Given the description of an element on the screen output the (x, y) to click on. 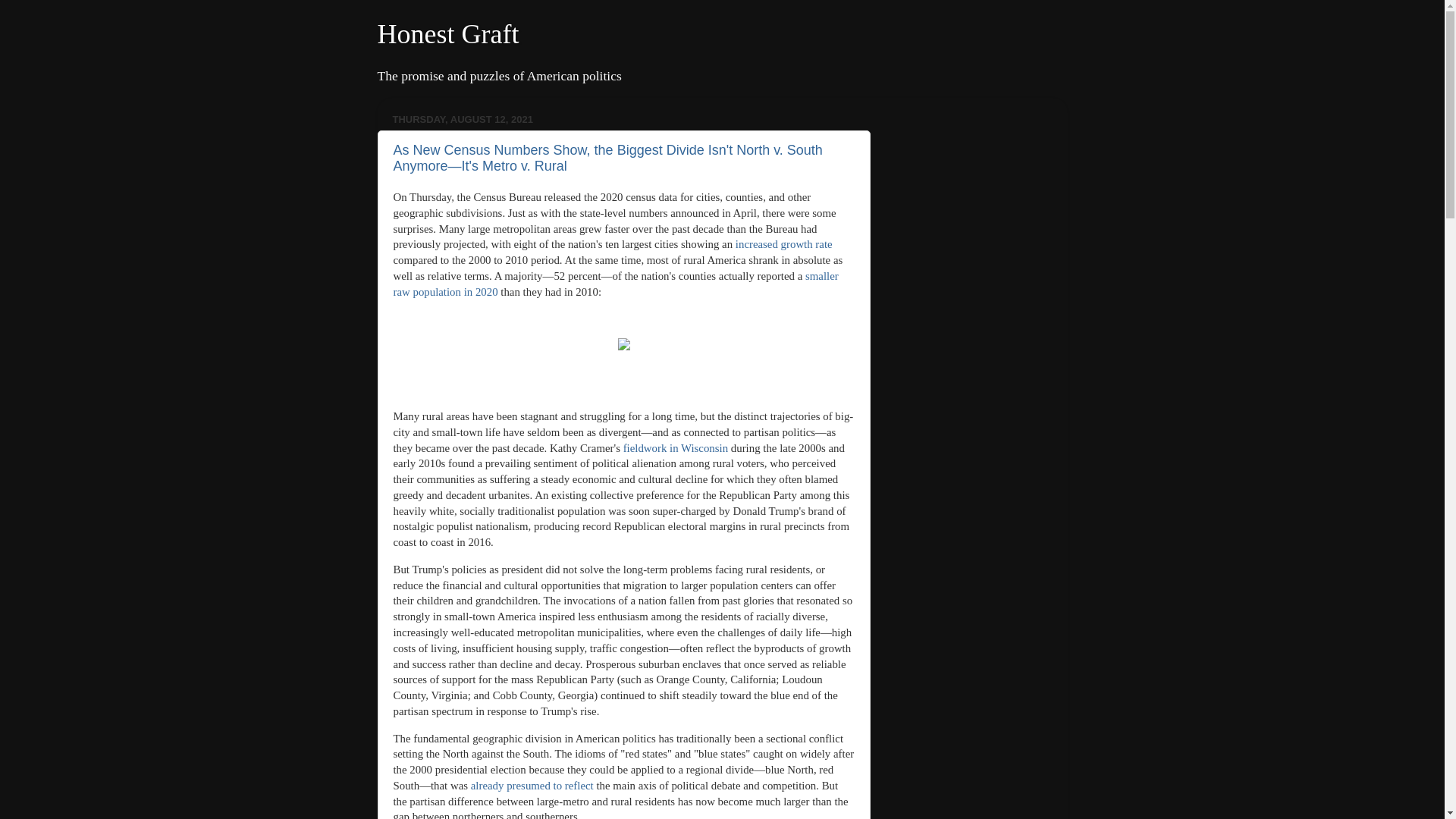
already presumed to reflect (532, 785)
fieldwork in Wisconsin (675, 448)
Honest Graft (448, 33)
smaller raw population in 2020 (615, 284)
increased growth rate (783, 244)
